Given the description of an element on the screen output the (x, y) to click on. 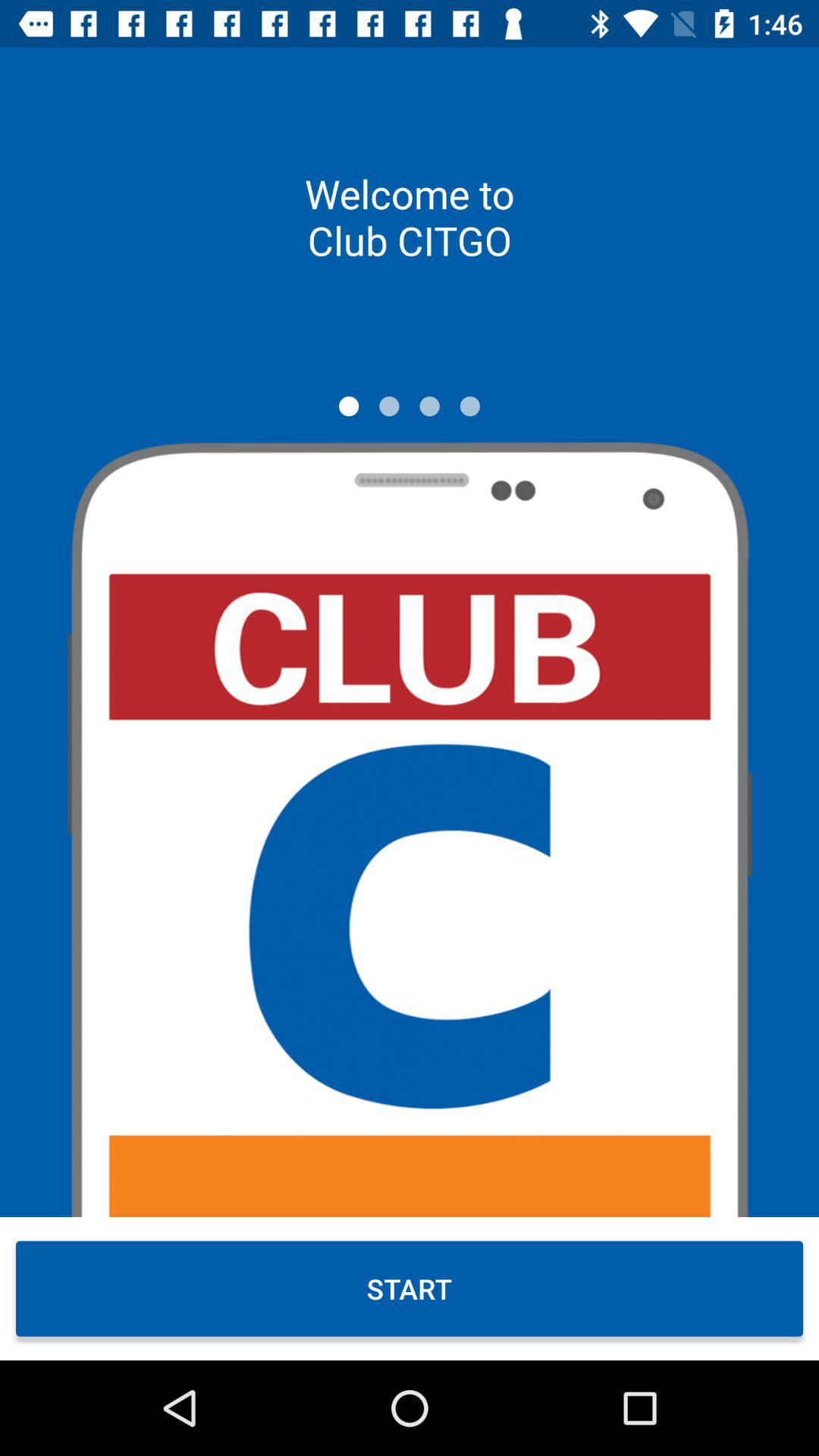
move to page (470, 406)
